Given the description of an element on the screen output the (x, y) to click on. 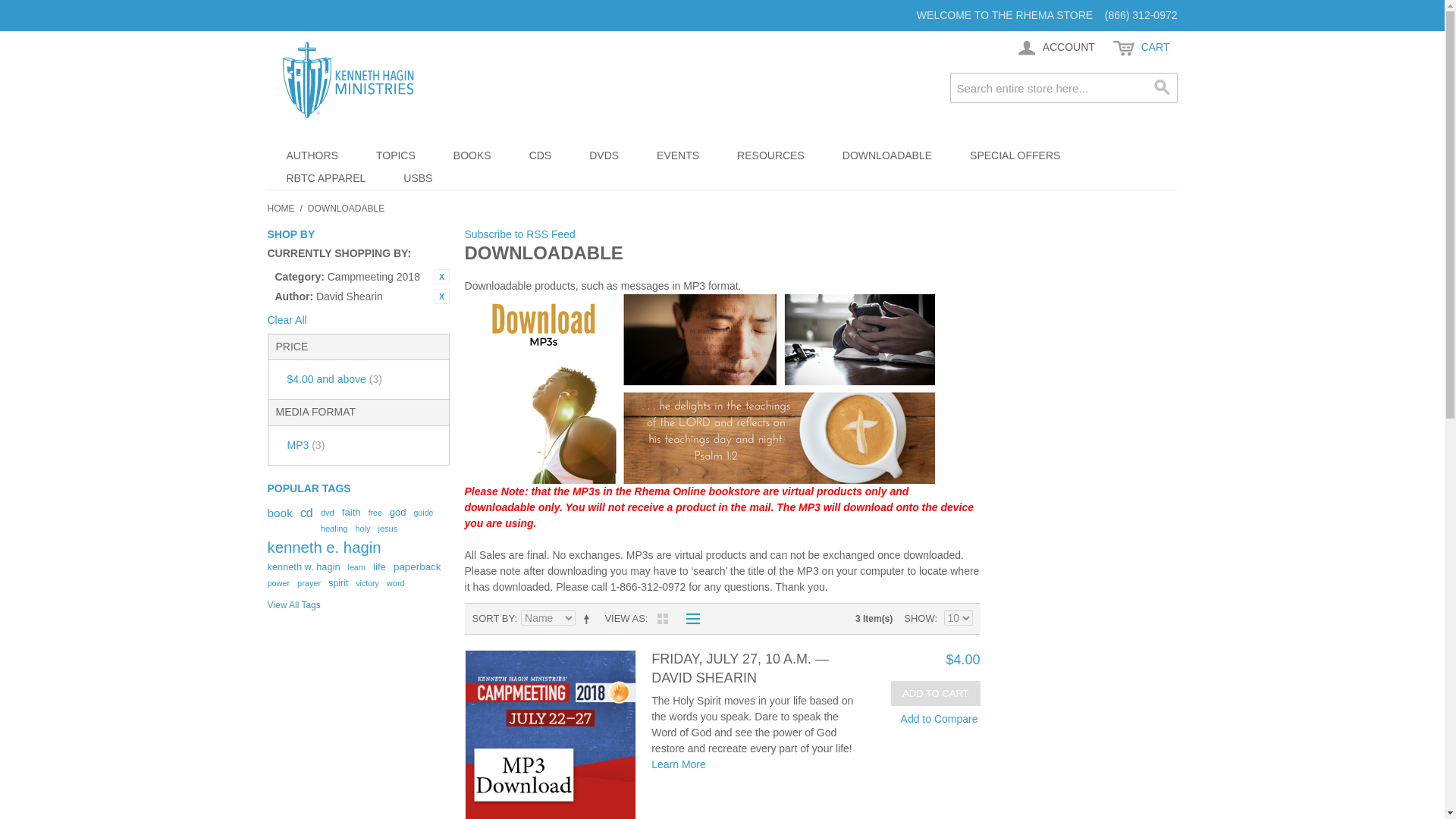
Set Descending Direction (588, 618)
AUTHORS (311, 155)
Go to Home Page (280, 208)
Search (1161, 87)
TOPICS (394, 155)
BOOKS (472, 155)
CART (1141, 47)
Grid (662, 618)
ACCOUNT (1054, 47)
List (689, 618)
